Given the description of an element on the screen output the (x, y) to click on. 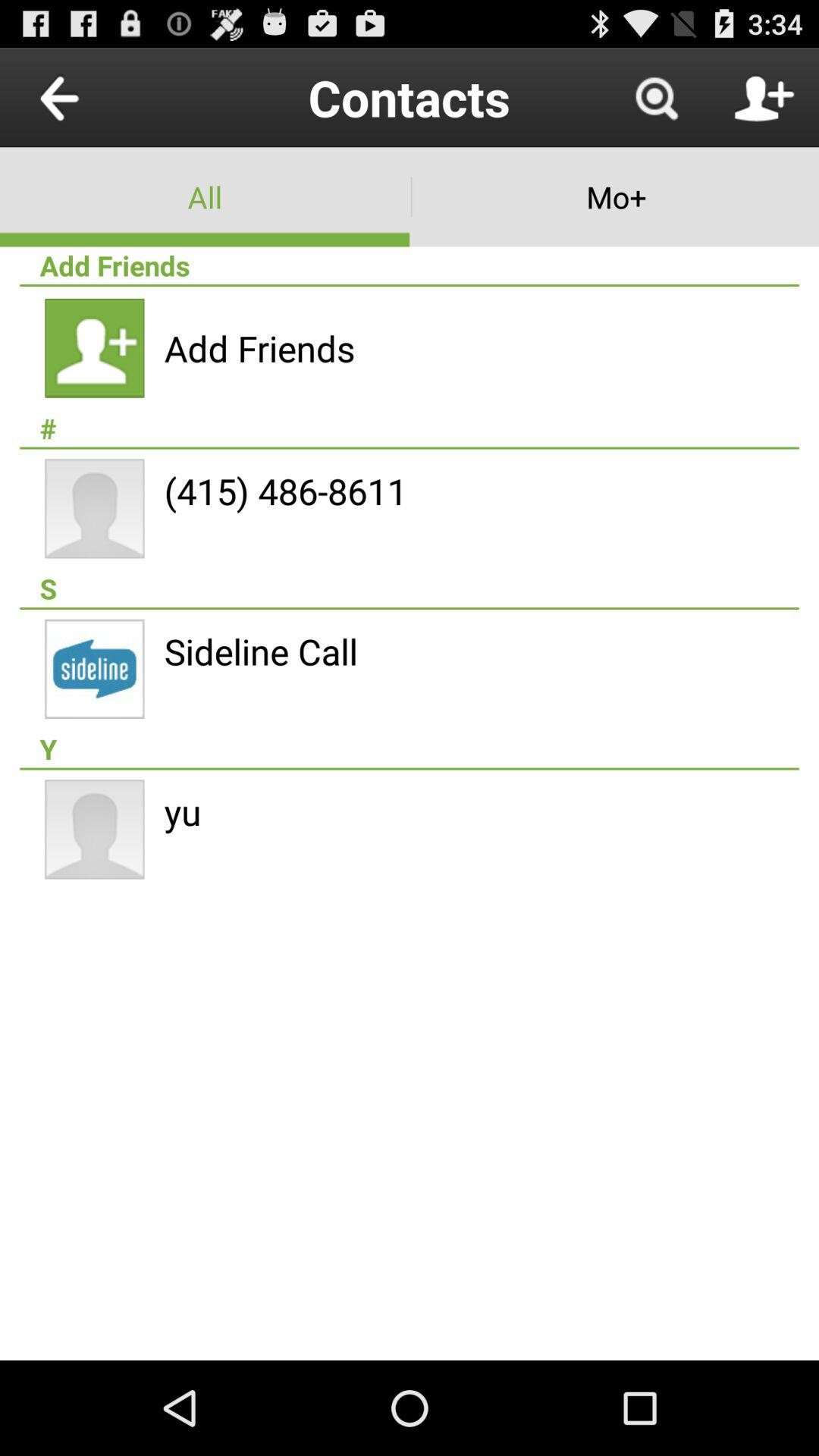
click item above s item (285, 490)
